Given the description of an element on the screen output the (x, y) to click on. 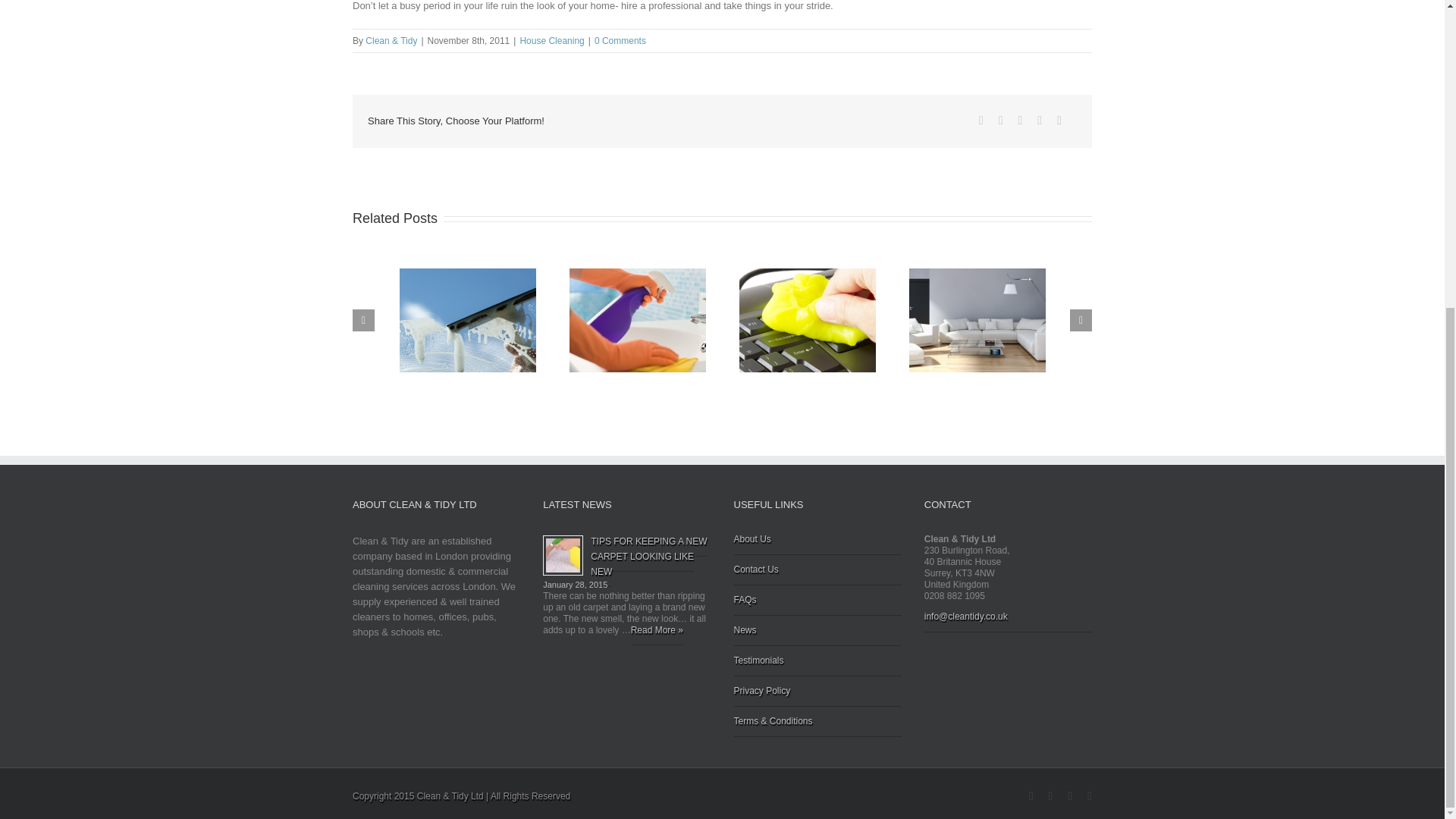
Facebook (981, 120)
Twitter (1069, 796)
Permalink to Tips for Keeping a New Carpet Looking Like New (648, 557)
Twitter (1000, 120)
Rss (1050, 796)
Mail (1059, 120)
Linkedin (1039, 120)
Facebook (1031, 796)
